Given the description of an element on the screen output the (x, y) to click on. 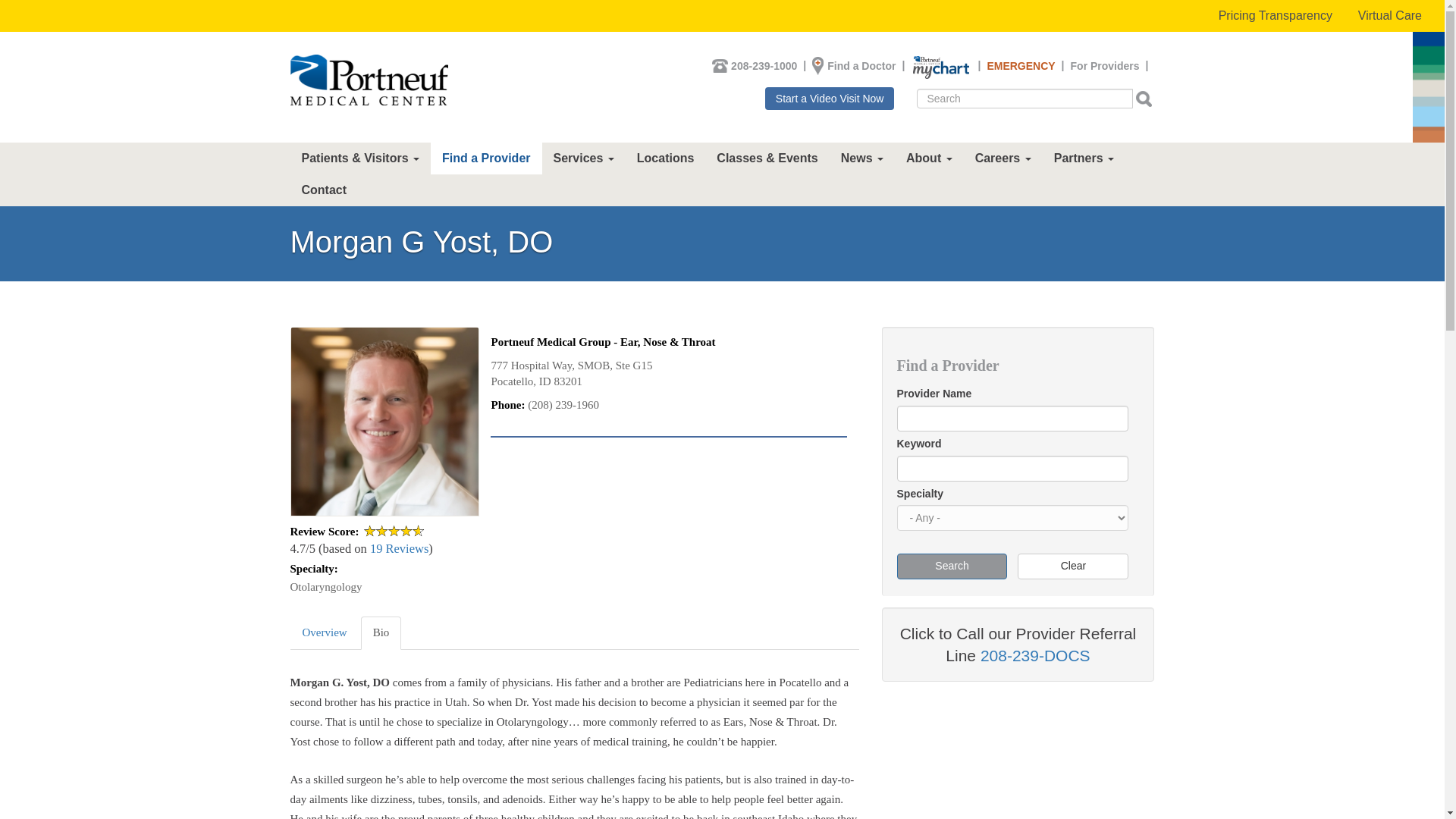
Virtual Care (1389, 15)
EMERGENCY (1020, 65)
Find a Doctor (861, 65)
208-239-1000 (763, 65)
Start a Video Visit Now (830, 97)
For Providers (1105, 65)
Search (925, 117)
Find a Provider (485, 158)
Pricing Transparency (1275, 15)
